Given the description of an element on the screen output the (x, y) to click on. 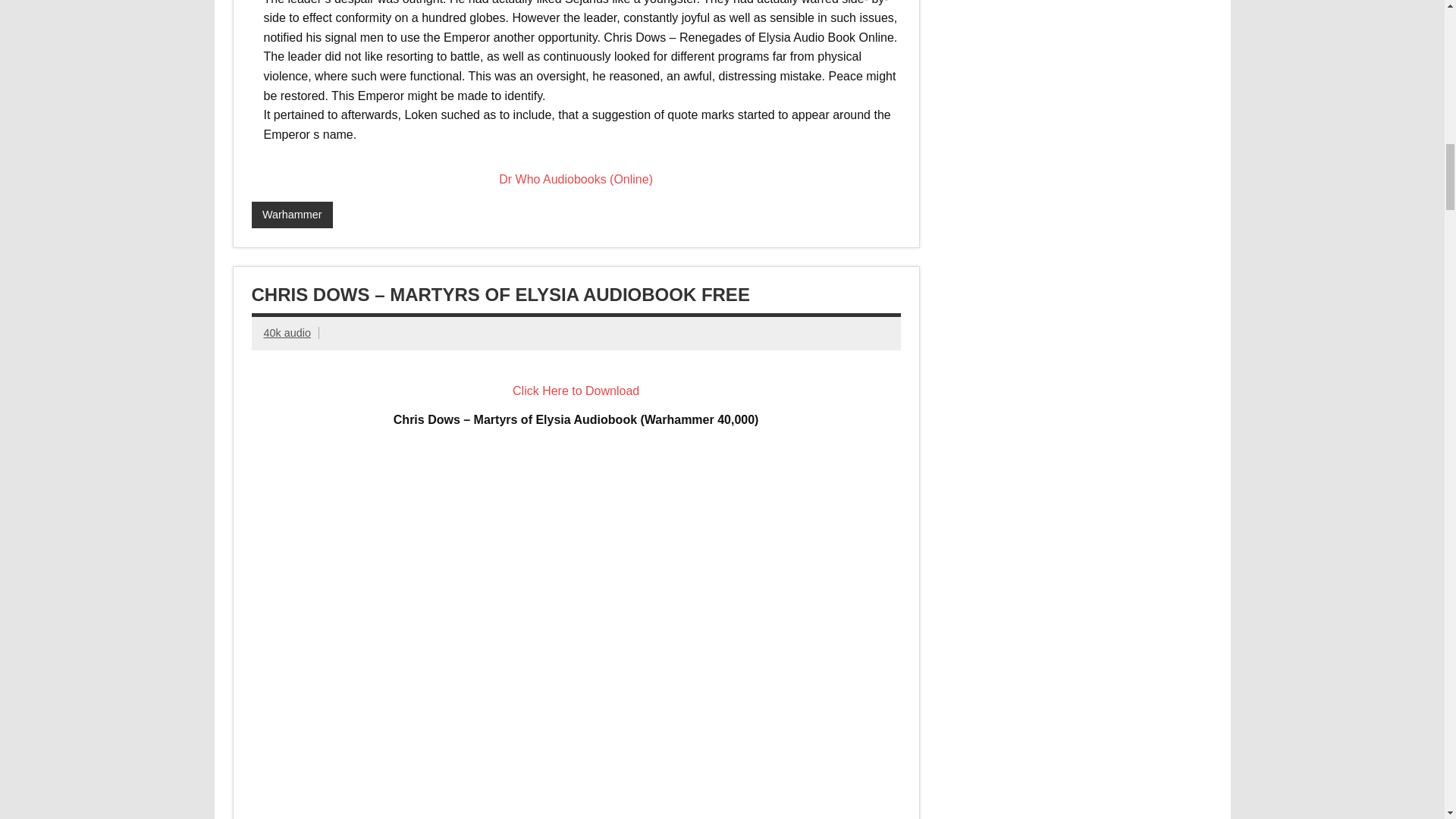
40k audio (287, 332)
Warhammer (292, 215)
View all posts by 40k audio (287, 332)
Click Here to Download (575, 390)
